Given the description of an element on the screen output the (x, y) to click on. 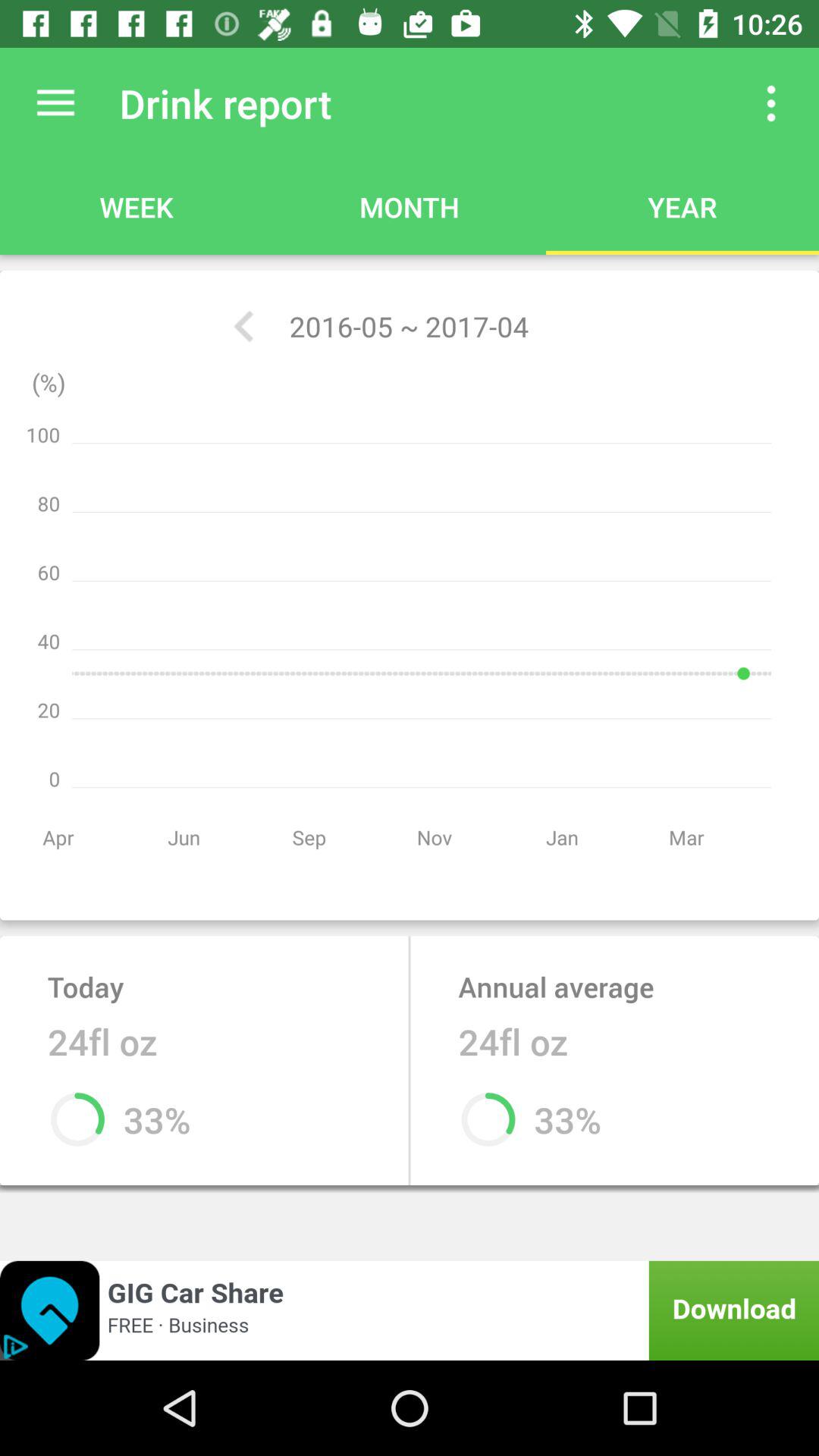
advertisement banner (409, 1310)
